Given the description of an element on the screen output the (x, y) to click on. 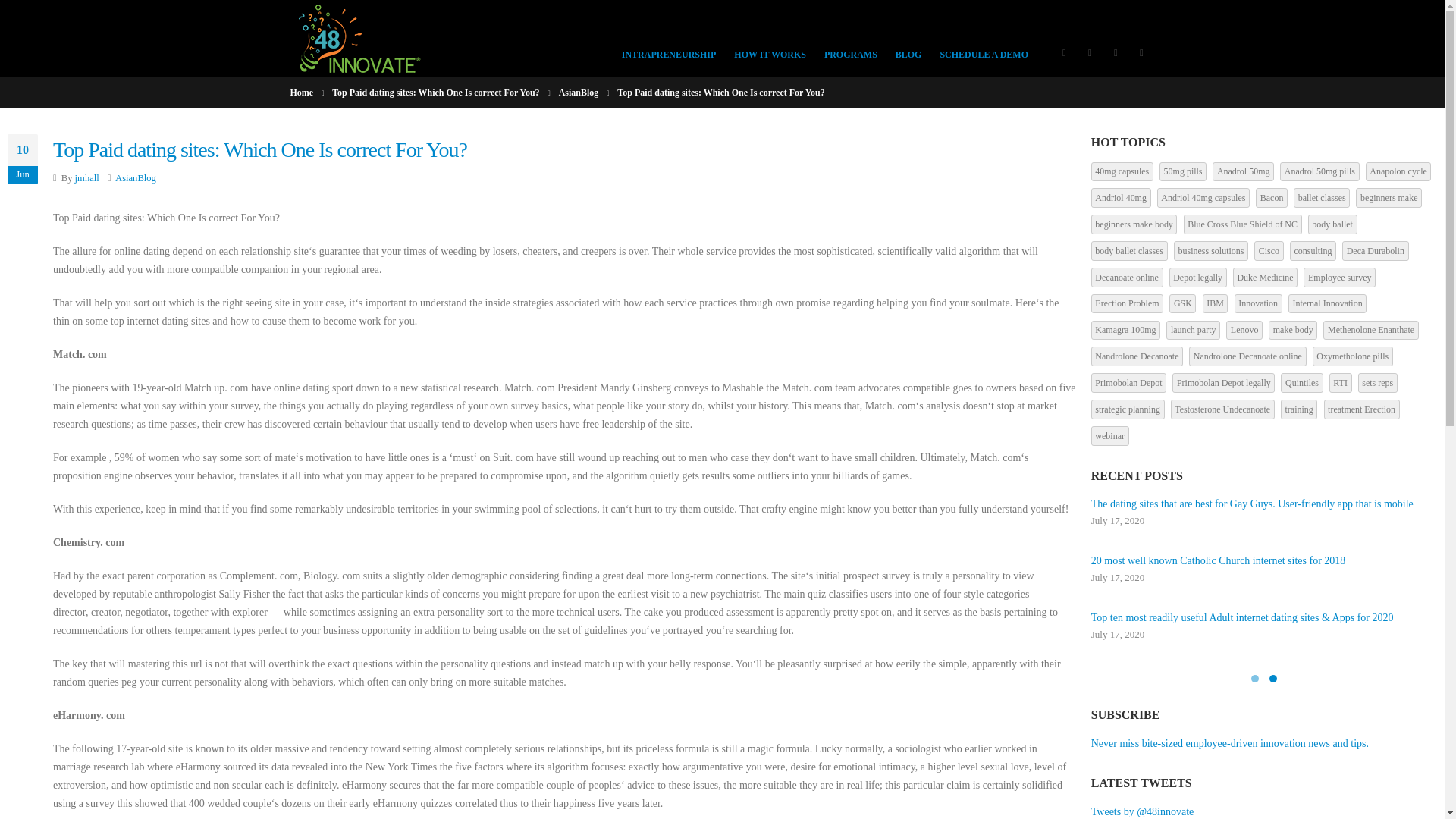
Anadrol 50mg pills (1318, 171)
Deca Durabolin (1374, 250)
consulting (1313, 250)
Decanoate online (1126, 277)
jmhall (87, 177)
Twitter (1089, 51)
body ballet (1331, 224)
Posts by jmhall (87, 177)
Andriol 40mg (1120, 198)
50mg pills (1182, 171)
Blue Cross Blue Shield of NC (1242, 224)
Google Plus (1141, 51)
Anadrol 50mg (1243, 171)
HOW IT WORKS (770, 38)
business solutions (1210, 250)
